Given the description of an element on the screen output the (x, y) to click on. 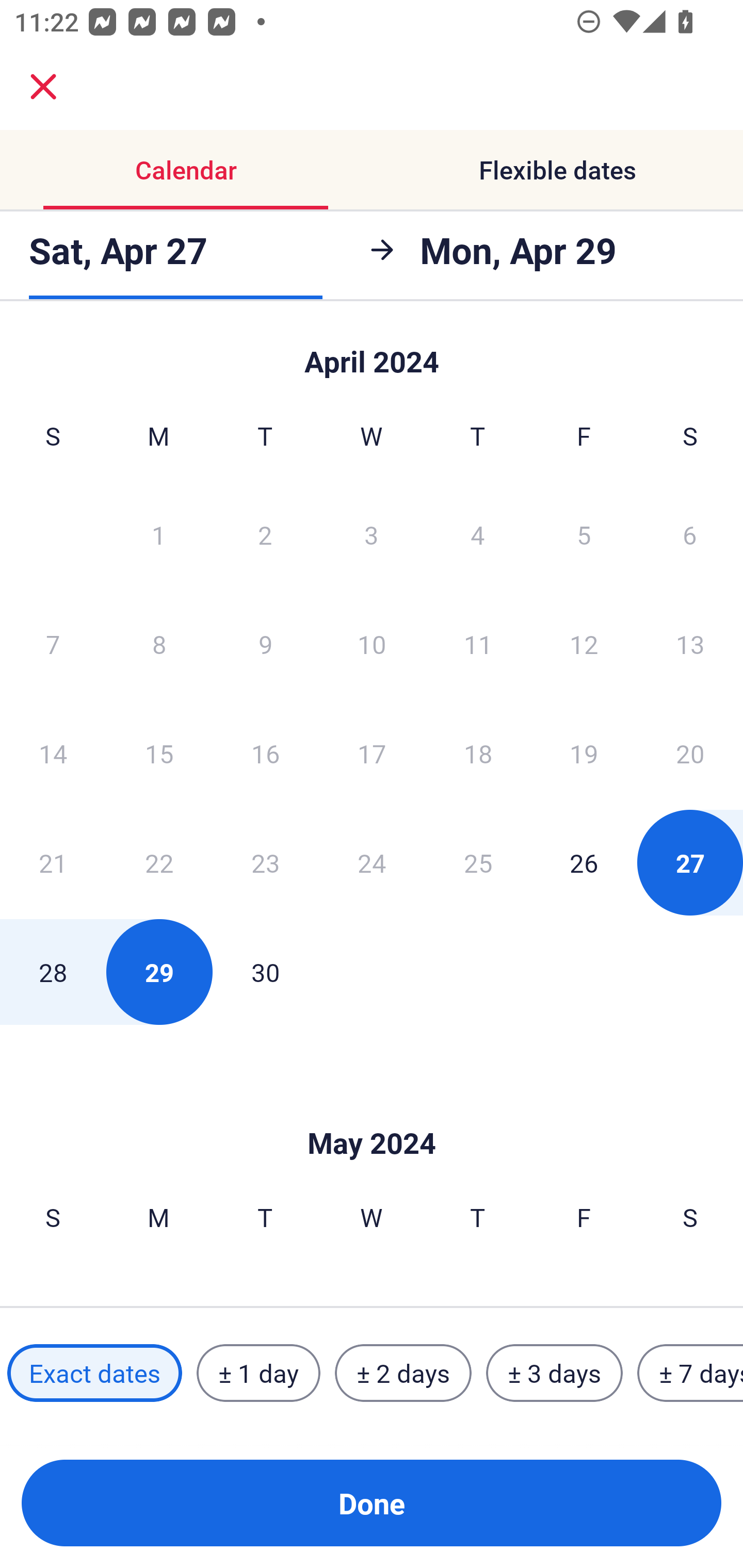
close. (43, 86)
Flexible dates (557, 170)
Skip to Done (371, 352)
1 Monday, April 1, 2024 (158, 534)
2 Tuesday, April 2, 2024 (264, 534)
3 Wednesday, April 3, 2024 (371, 534)
4 Thursday, April 4, 2024 (477, 534)
5 Friday, April 5, 2024 (583, 534)
6 Saturday, April 6, 2024 (689, 534)
7 Sunday, April 7, 2024 (53, 643)
8 Monday, April 8, 2024 (159, 643)
9 Tuesday, April 9, 2024 (265, 643)
10 Wednesday, April 10, 2024 (371, 643)
11 Thursday, April 11, 2024 (477, 643)
12 Friday, April 12, 2024 (584, 643)
13 Saturday, April 13, 2024 (690, 643)
14 Sunday, April 14, 2024 (53, 752)
15 Monday, April 15, 2024 (159, 752)
16 Tuesday, April 16, 2024 (265, 752)
17 Wednesday, April 17, 2024 (371, 752)
18 Thursday, April 18, 2024 (477, 752)
19 Friday, April 19, 2024 (584, 752)
20 Saturday, April 20, 2024 (690, 752)
21 Sunday, April 21, 2024 (53, 862)
22 Monday, April 22, 2024 (159, 862)
23 Tuesday, April 23, 2024 (265, 862)
24 Wednesday, April 24, 2024 (371, 862)
25 Thursday, April 25, 2024 (477, 862)
26 Friday, April 26, 2024 (584, 862)
30 Tuesday, April 30, 2024 (265, 971)
Skip to Done (371, 1112)
Exact dates (94, 1372)
± 1 day (258, 1372)
± 2 days (403, 1372)
± 3 days (553, 1372)
± 7 days (690, 1372)
Done (371, 1502)
